Given the description of an element on the screen output the (x, y) to click on. 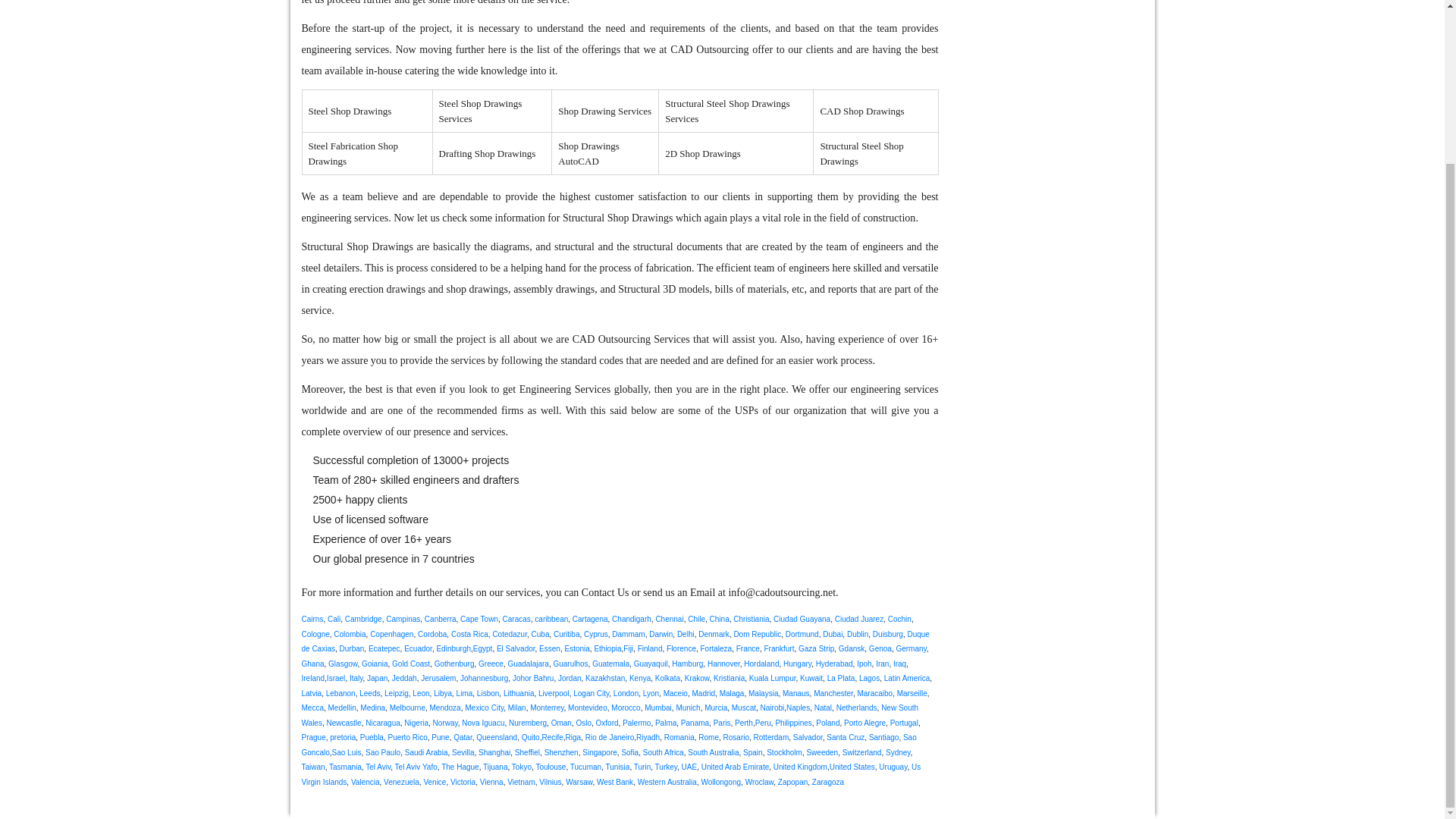
Outsource Steel Shop Drawing Services (357, 246)
Copenhagen (391, 633)
caribbean (550, 619)
Cape Town (478, 619)
Campinas (402, 619)
Cairns (312, 619)
Chandigarh (630, 619)
Cotedazur (509, 633)
Caracas (516, 619)
Cartagena (590, 619)
